Given the description of an element on the screen output the (x, y) to click on. 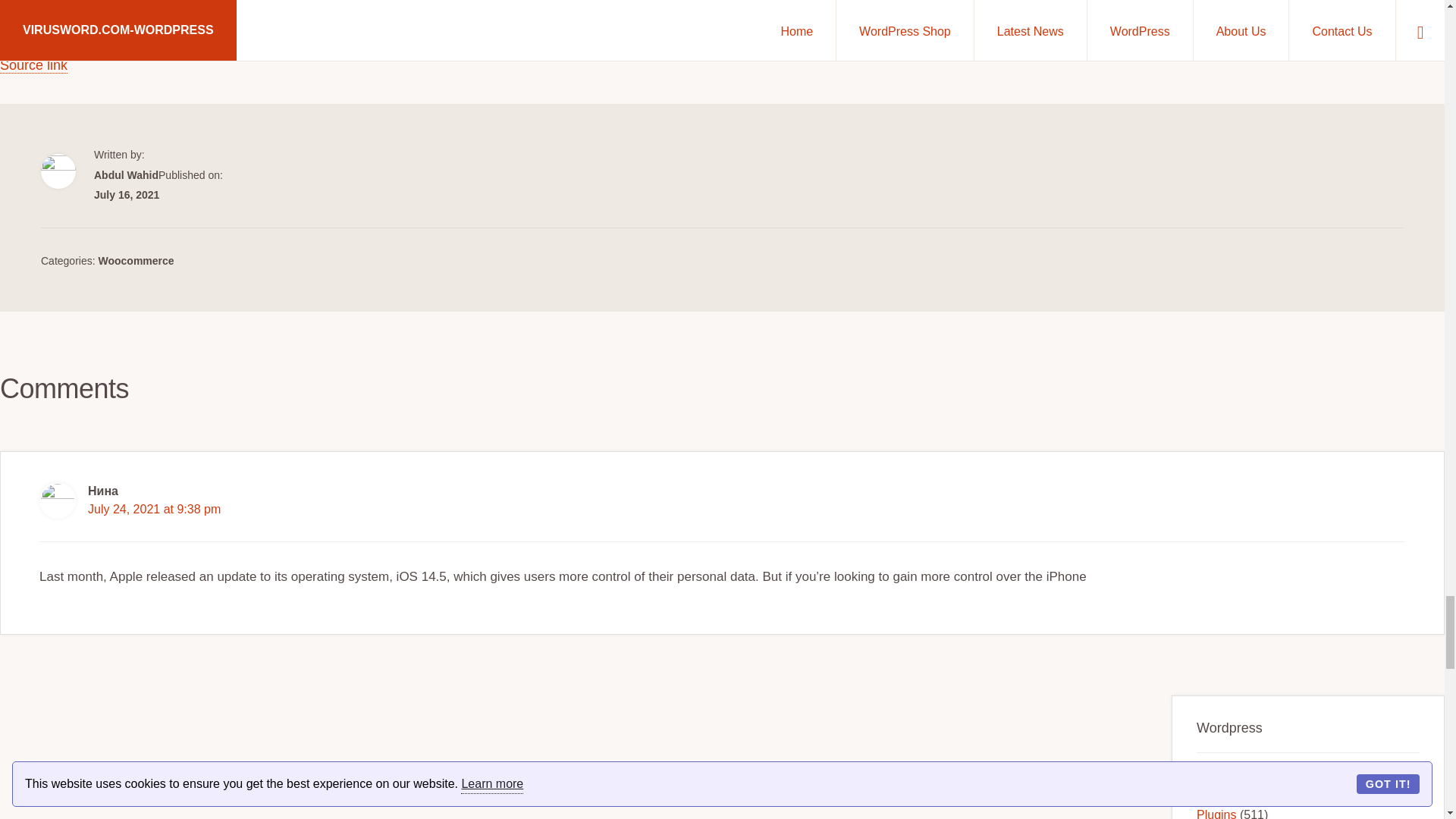
Source link (33, 65)
Woocommerce (135, 260)
July 24, 2021 at 9:38 pm (154, 509)
Abdul Wahid (126, 174)
